Given the description of an element on the screen output the (x, y) to click on. 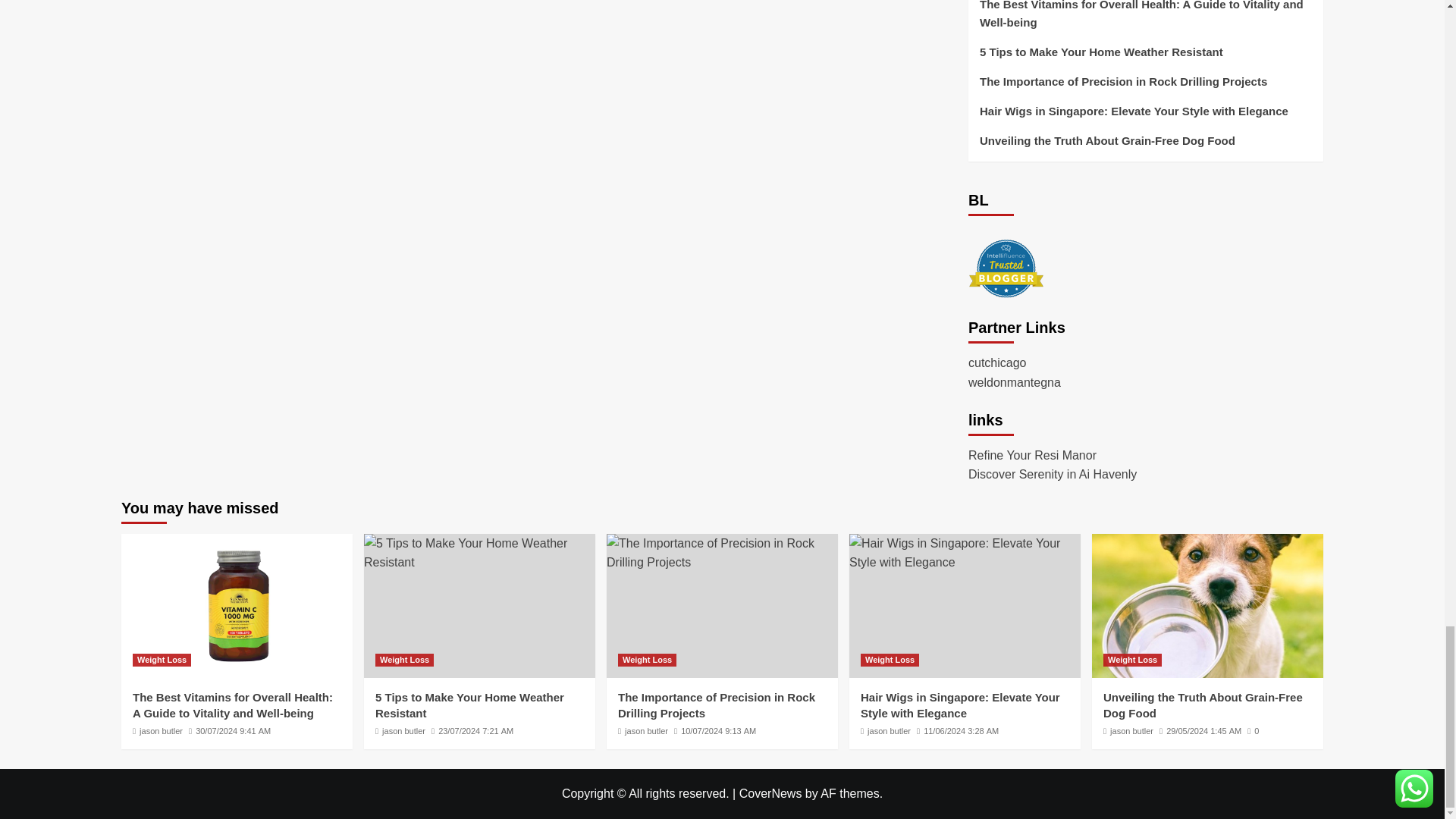
5 Tips to Make Your Home Weather Resistant (479, 552)
The Importance of Precision in Rock Drilling Projects (722, 552)
